Given the description of an element on the screen output the (x, y) to click on. 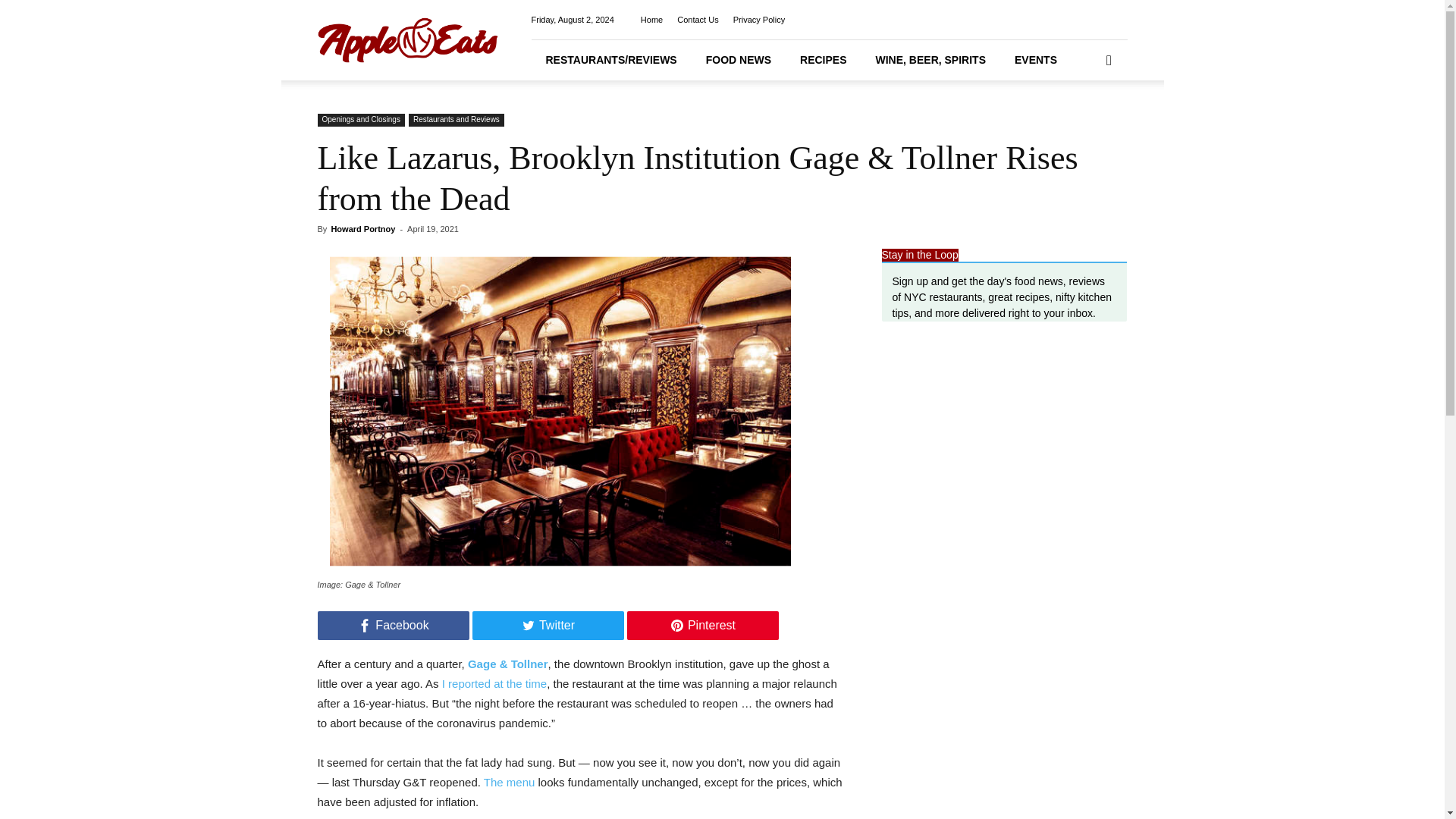
Search (1085, 122)
Pinterest (701, 624)
Twitter (547, 624)
RECIPES (823, 60)
Facebook (392, 624)
Openings and Closings (360, 119)
Home (651, 19)
Howard Portnoy (362, 228)
FOOD NEWS (738, 60)
Contact Us (697, 19)
